Given the description of an element on the screen output the (x, y) to click on. 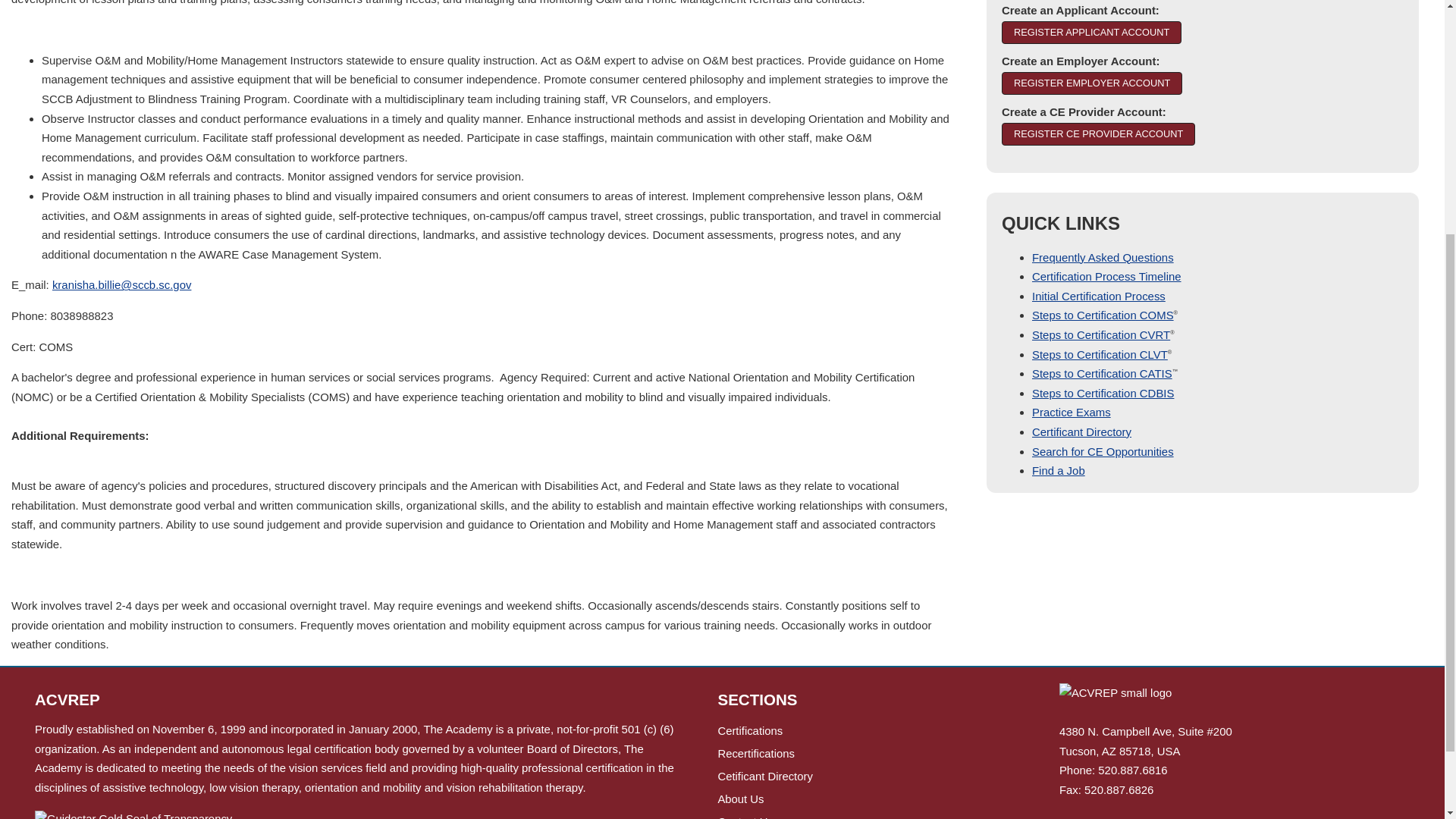
Register Employer Account (1091, 83)
Register Applicant Account (1090, 32)
Register CE Provider Account (1098, 133)
